Given the description of an element on the screen output the (x, y) to click on. 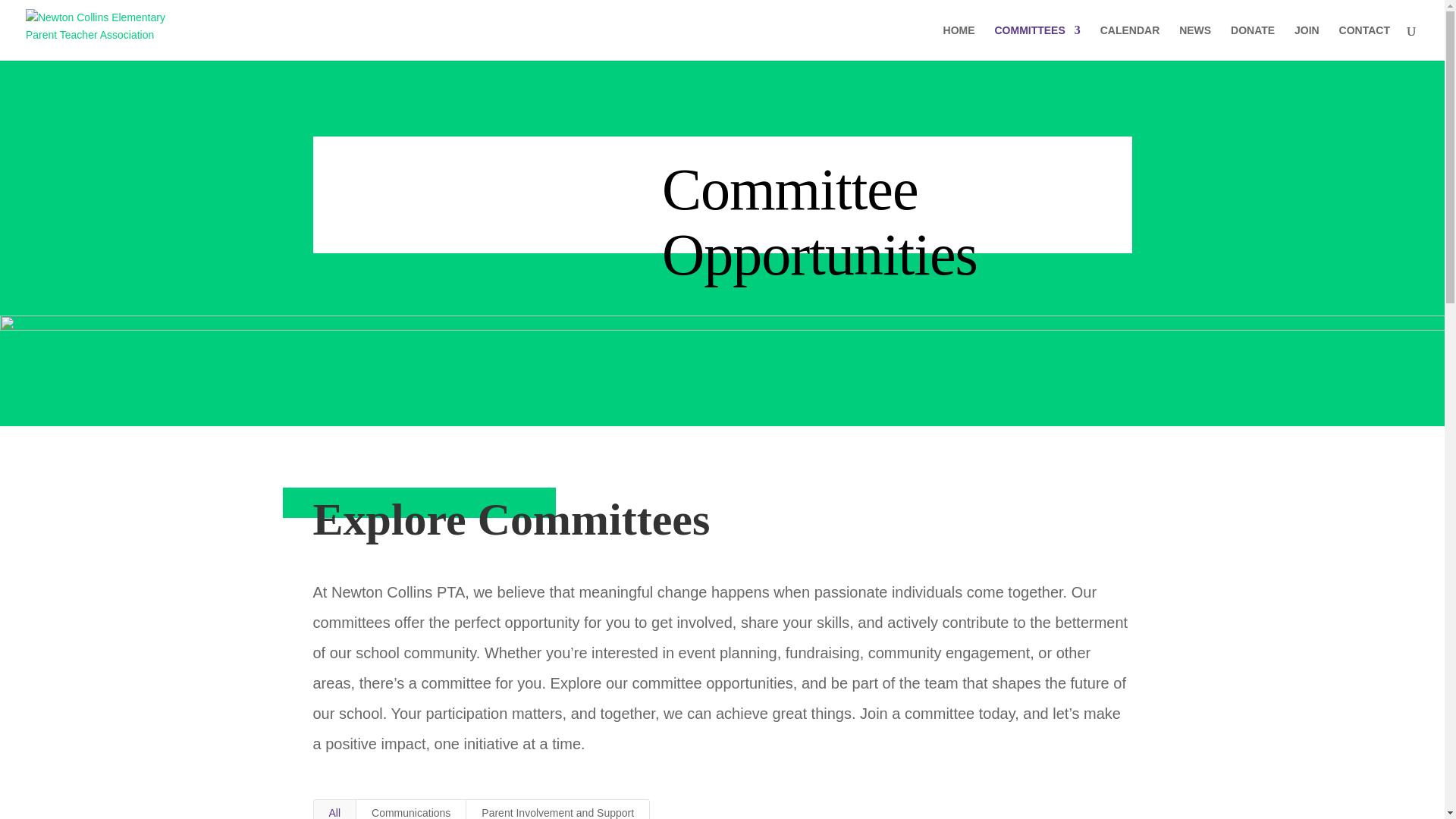
CALENDAR (1130, 42)
COMMITTEES (1037, 42)
HOME (959, 42)
JOIN (1306, 42)
Communications (410, 809)
NEWS (1195, 42)
CONTACT (1364, 42)
Parent Involvement and Support (557, 809)
All (334, 809)
DONATE (1252, 42)
